Given the description of an element on the screen output the (x, y) to click on. 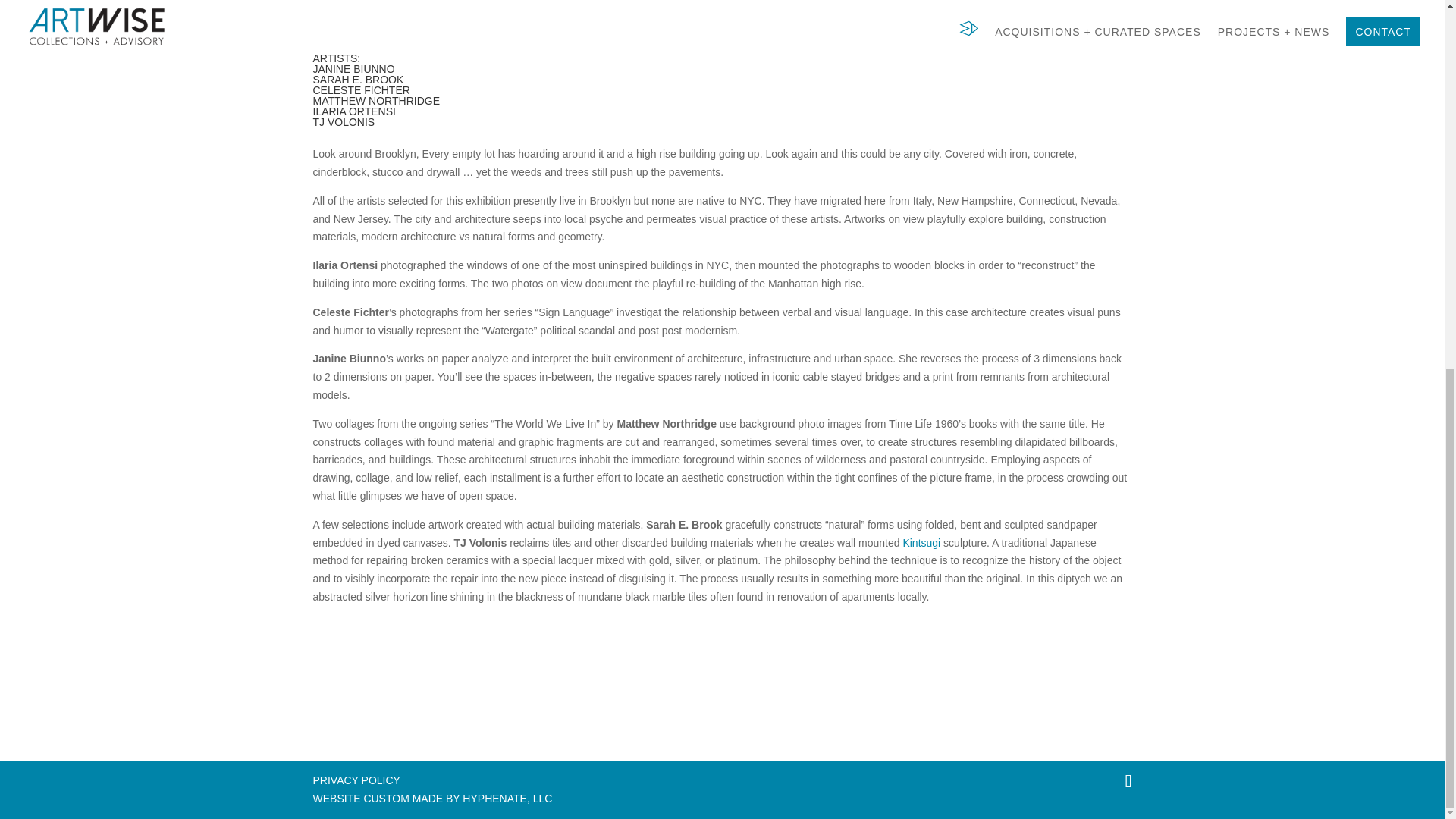
PRIVACY POLICY (355, 779)
HYPHENATE, LLC (507, 798)
Kintsugi (921, 542)
